Given the description of an element on the screen output the (x, y) to click on. 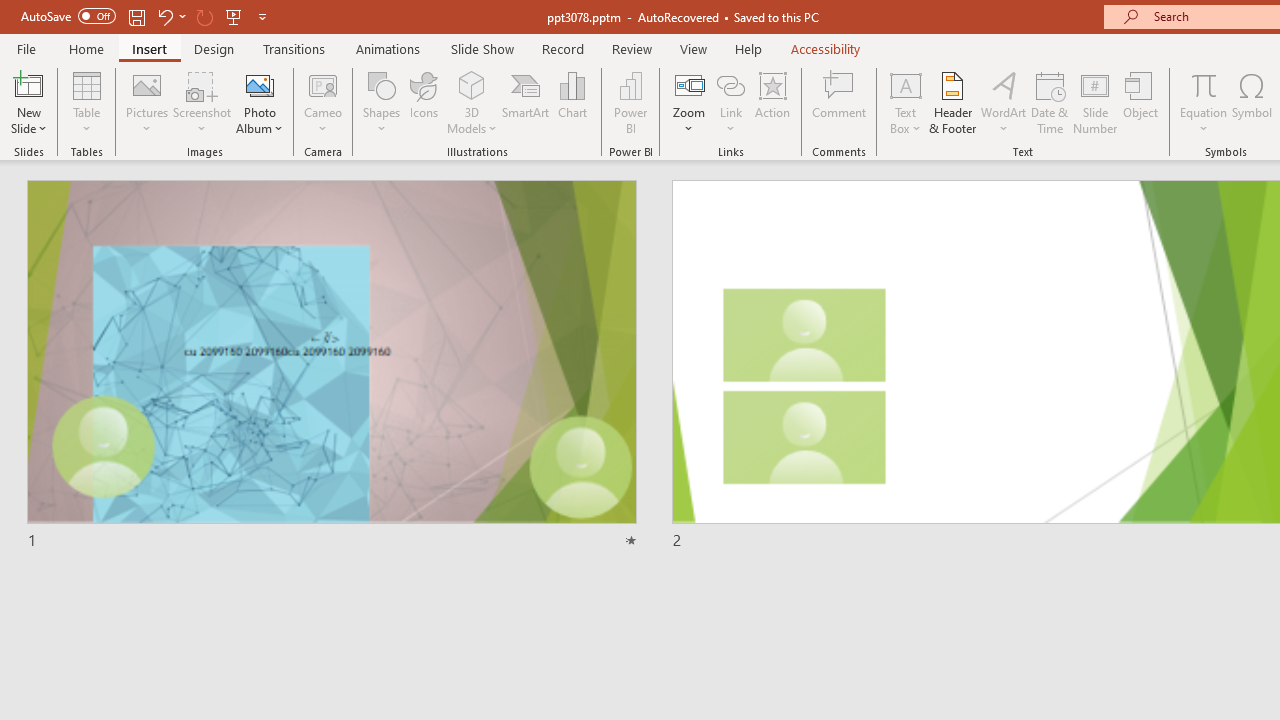
Date & Time... (1050, 102)
Symbol... (1252, 102)
3D Models (472, 102)
Slide Number (1095, 102)
Draw Horizontal Text Box (905, 84)
Photo Album... (259, 102)
